Given the description of an element on the screen output the (x, y) to click on. 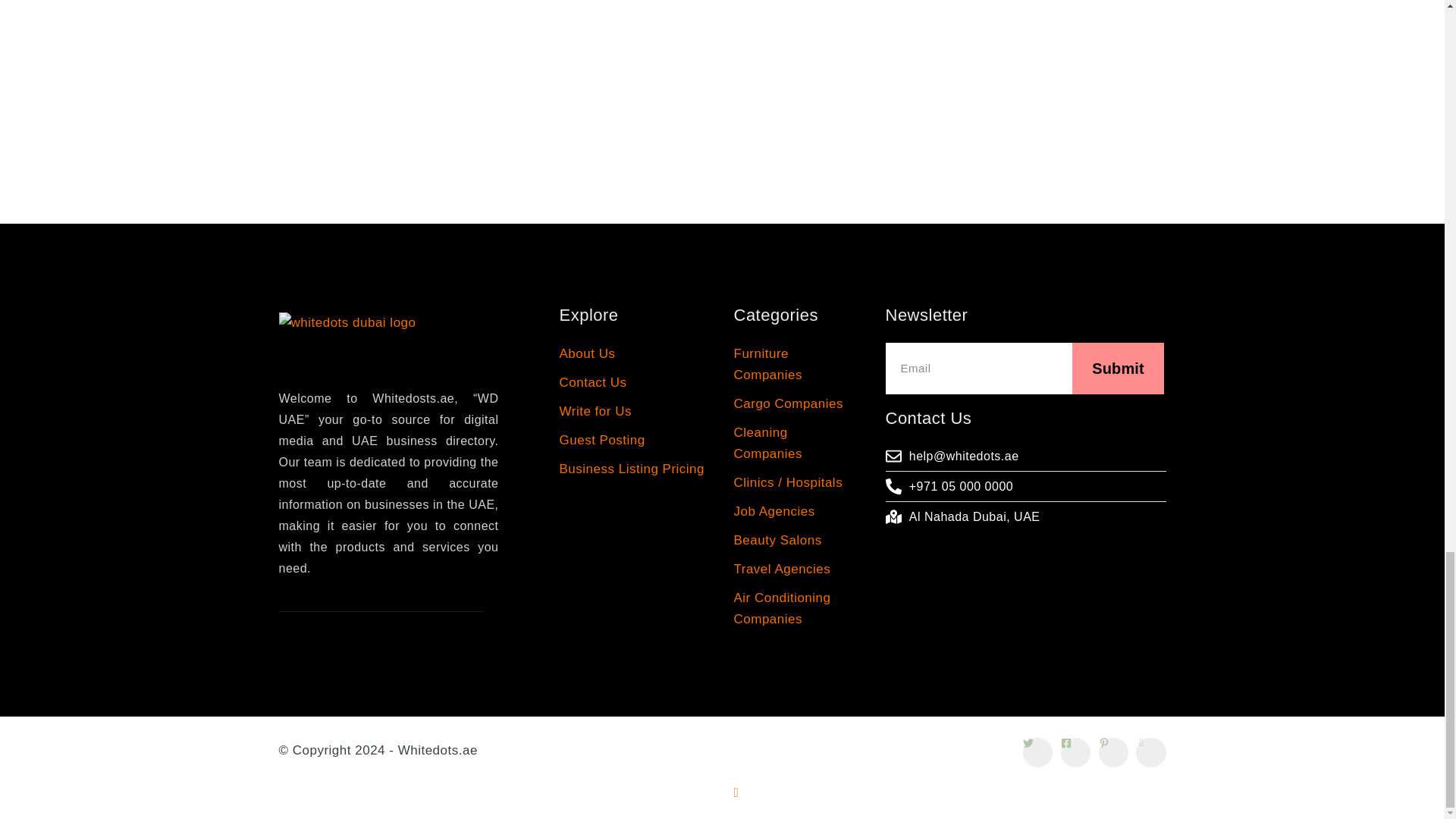
Business Listing Pricing (635, 468)
About Us (635, 353)
Categories (790, 316)
Contact Us (1025, 419)
Newsletter (1025, 316)
Explore (635, 316)
Guest Posting (635, 440)
Write for Us (635, 411)
Submit (1025, 368)
